Given the description of an element on the screen output the (x, y) to click on. 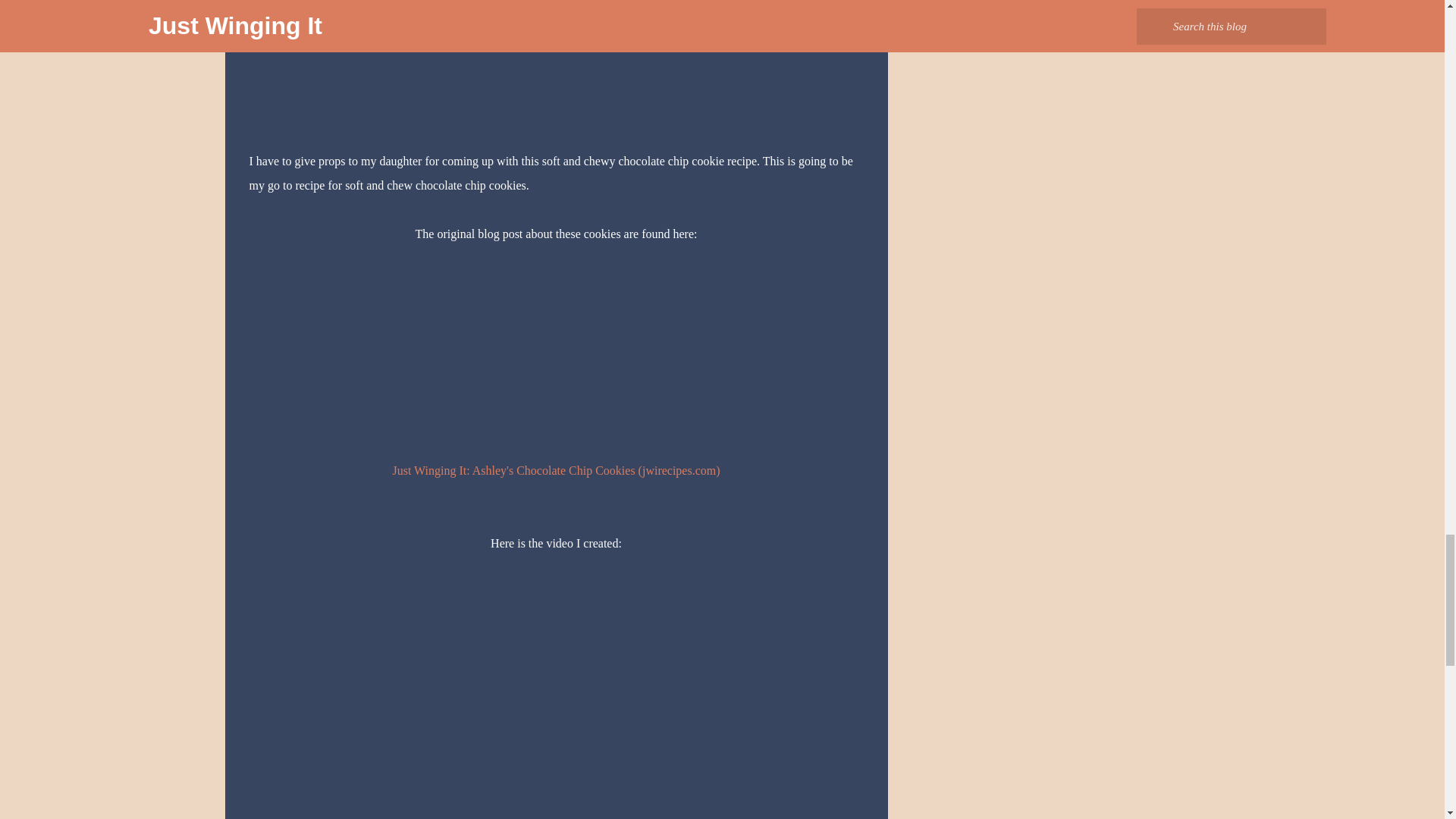
YouTube video player (460, 705)
